Given the description of an element on the screen output the (x, y) to click on. 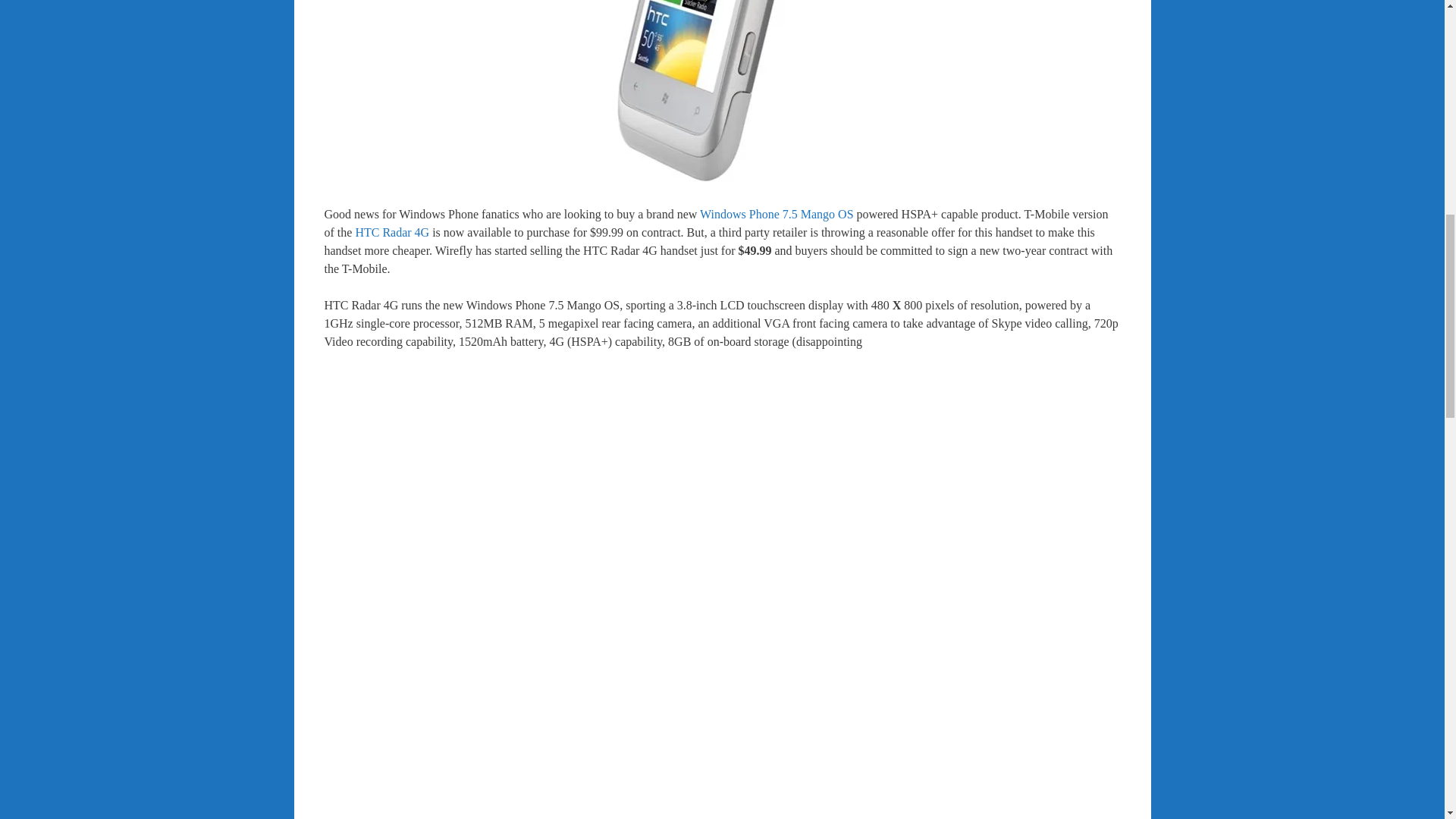
HTC Radar 4G (392, 232)
Windows Phone 7.5 Mango OS (776, 214)
HTC Radar 4G At Gadgetian.com (392, 232)
HTC Radar 4G For T-Mobile (721, 90)
